Given the description of an element on the screen output the (x, y) to click on. 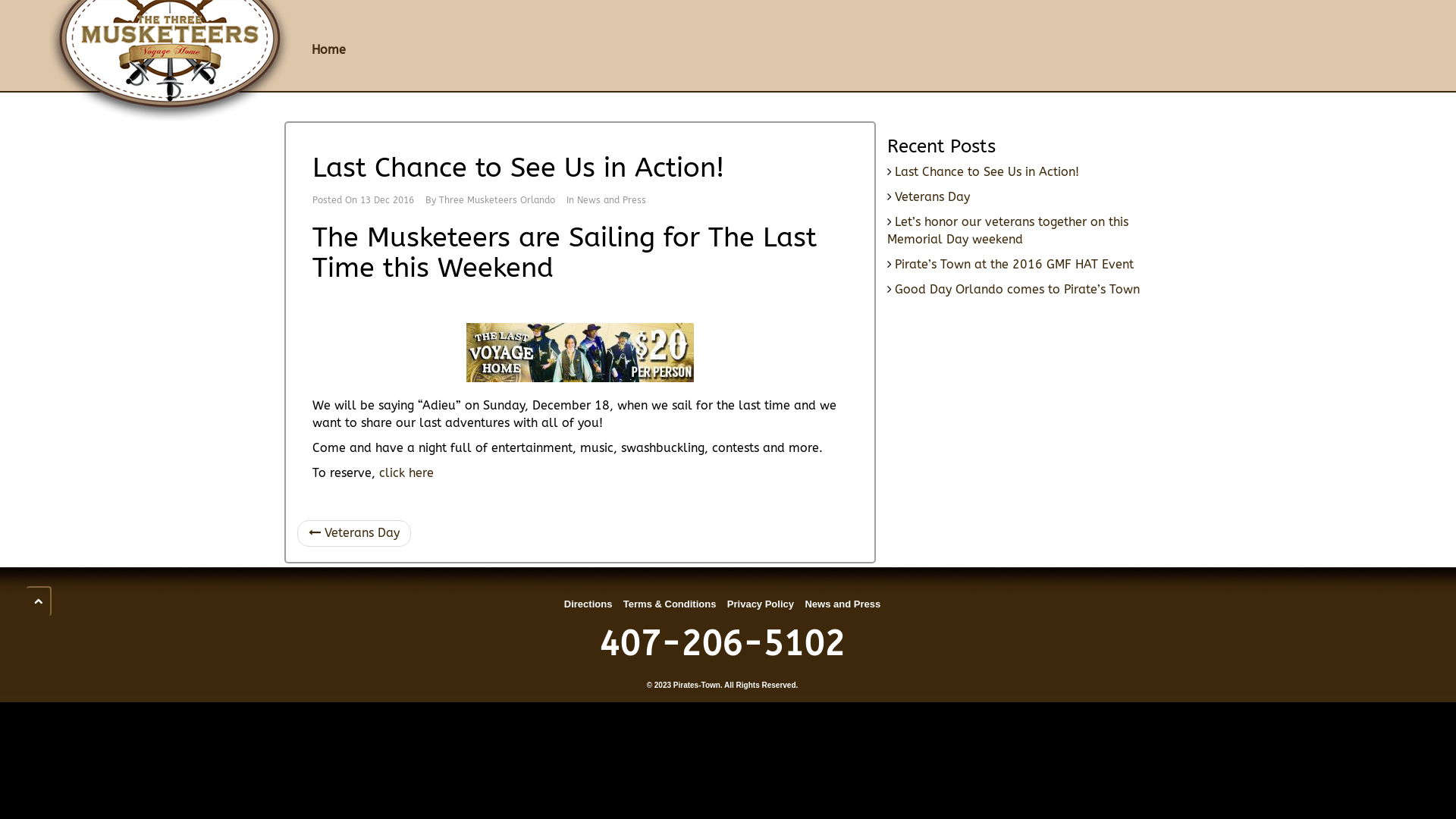
Home Element type: text (328, 49)
Veterans Day Element type: text (354, 533)
Privacy Policy Element type: text (760, 603)
Pirates-Town Element type: text (696, 684)
News and Press Element type: text (842, 603)
click here Element type: text (406, 472)
Last Chance to See Us in Action! Element type: text (986, 171)
News and Press Element type: text (611, 199)
Terms & Conditions Element type: text (669, 603)
Directions Element type: text (588, 603)
Three Musketeers Orlando Element type: text (497, 199)
go to top Element type: hover (38, 600)
Veterans Day Element type: text (931, 196)
